Given the description of an element on the screen output the (x, y) to click on. 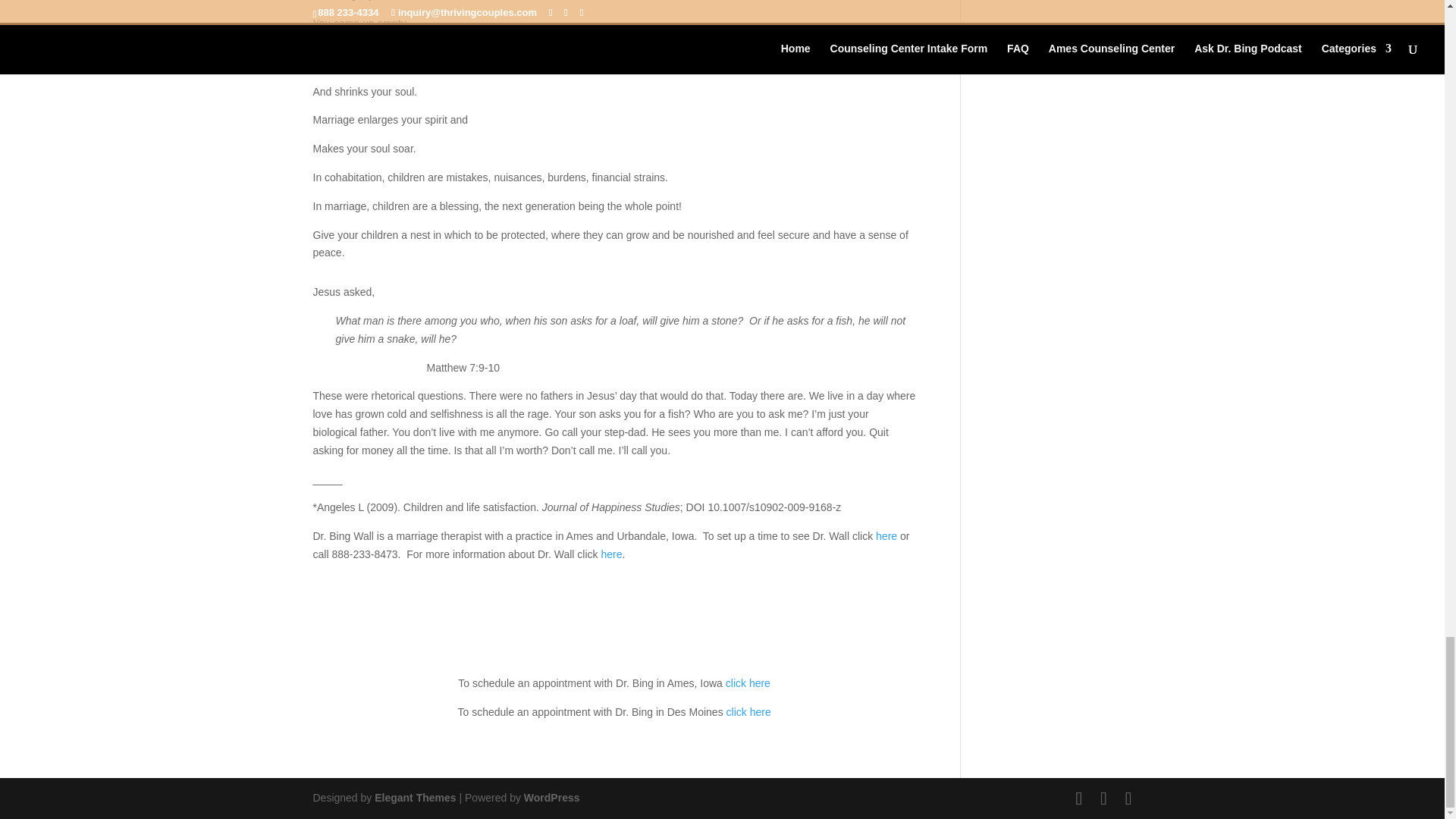
Premium WordPress Themes (414, 797)
